Given the description of an element on the screen output the (x, y) to click on. 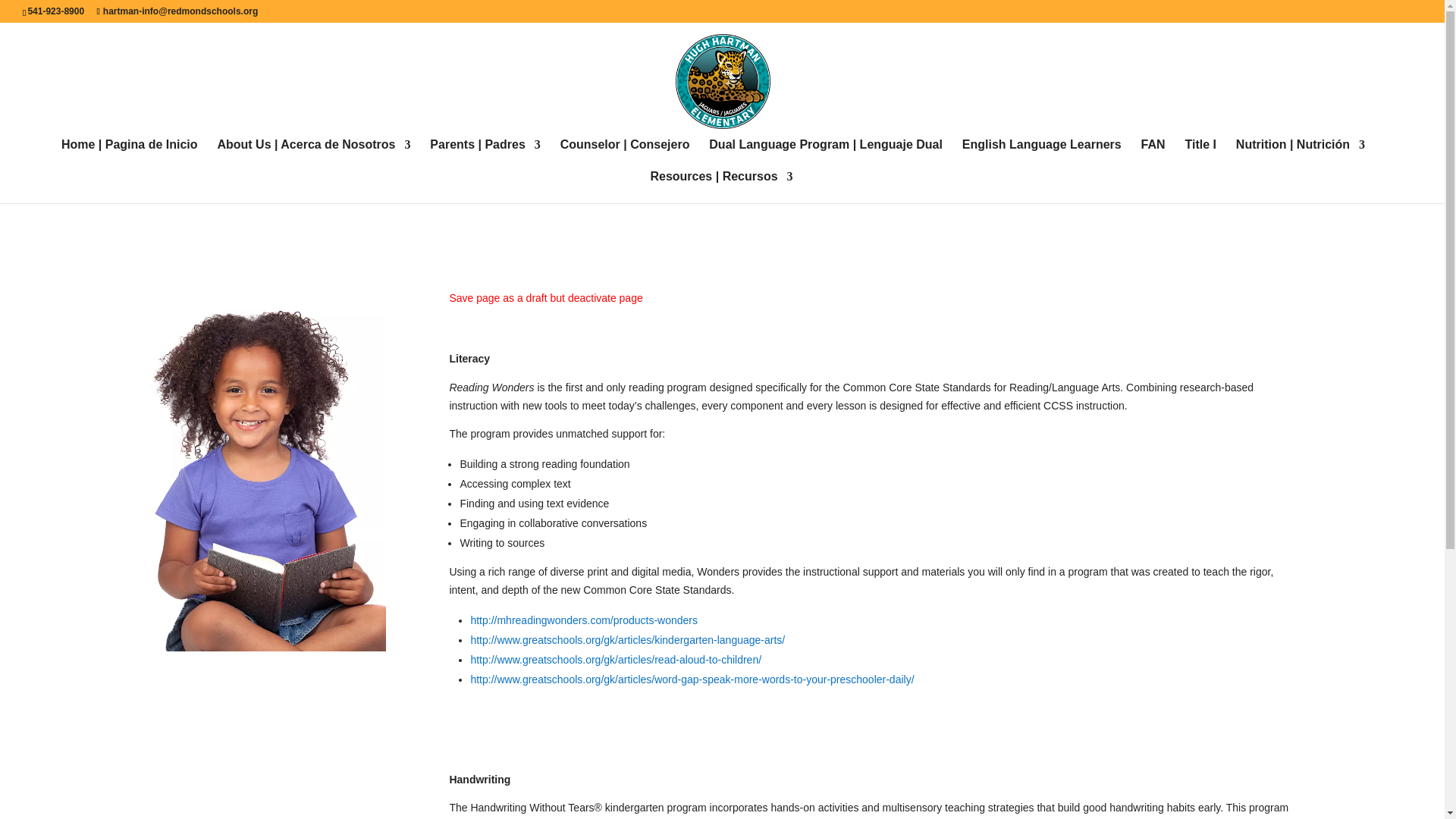
FAN (1153, 155)
English Language Learners (1041, 155)
Title I (1200, 155)
